Given the description of an element on the screen output the (x, y) to click on. 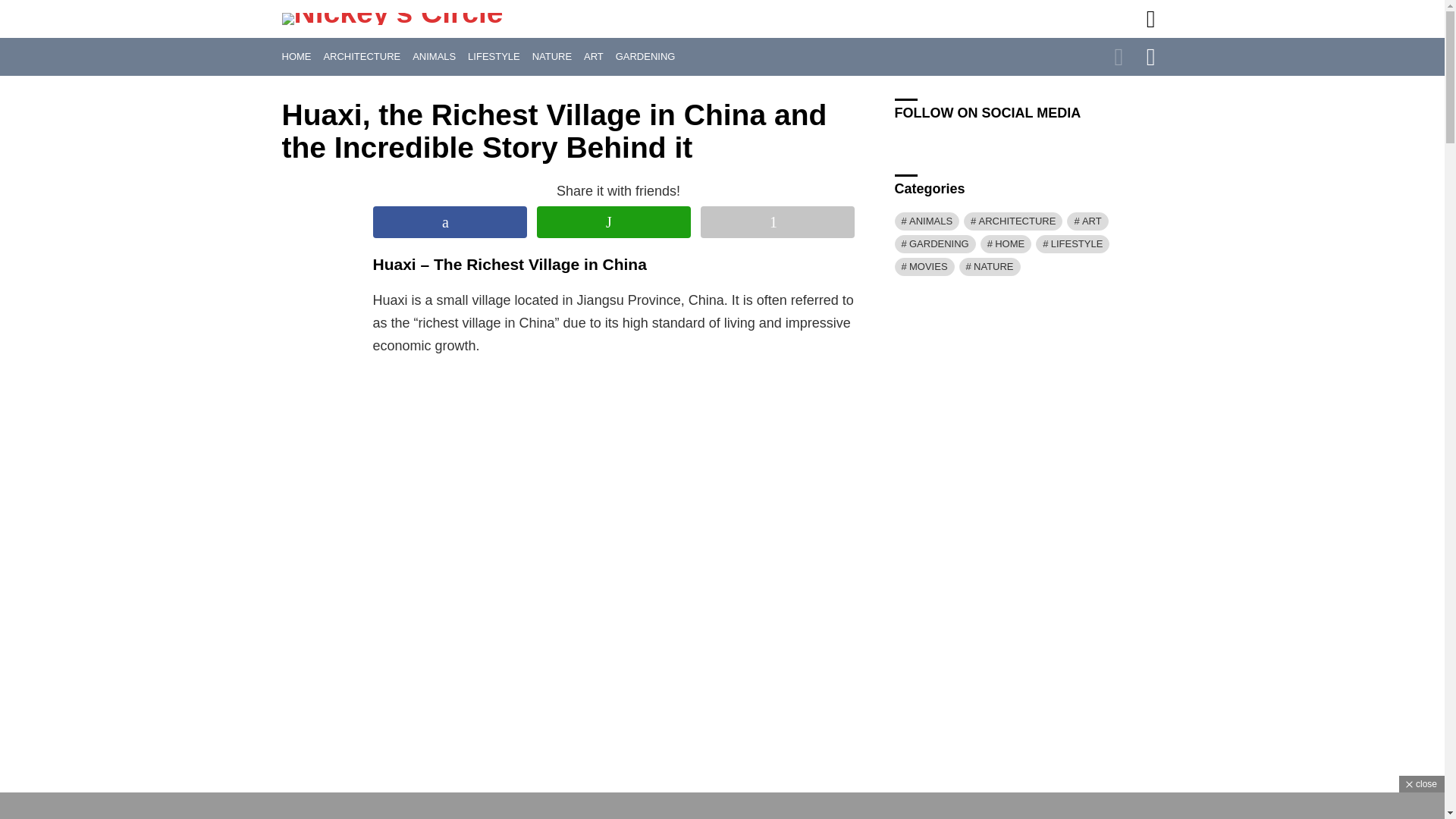
ANIMALS (433, 56)
NATURE (552, 56)
GARDENING (645, 56)
LIFESTYLE (493, 56)
Share on More Button (777, 222)
Share on WhatsApp (613, 222)
Share on Facebook (449, 222)
HOME (296, 56)
ARCHITECTURE (361, 56)
